Given the description of an element on the screen output the (x, y) to click on. 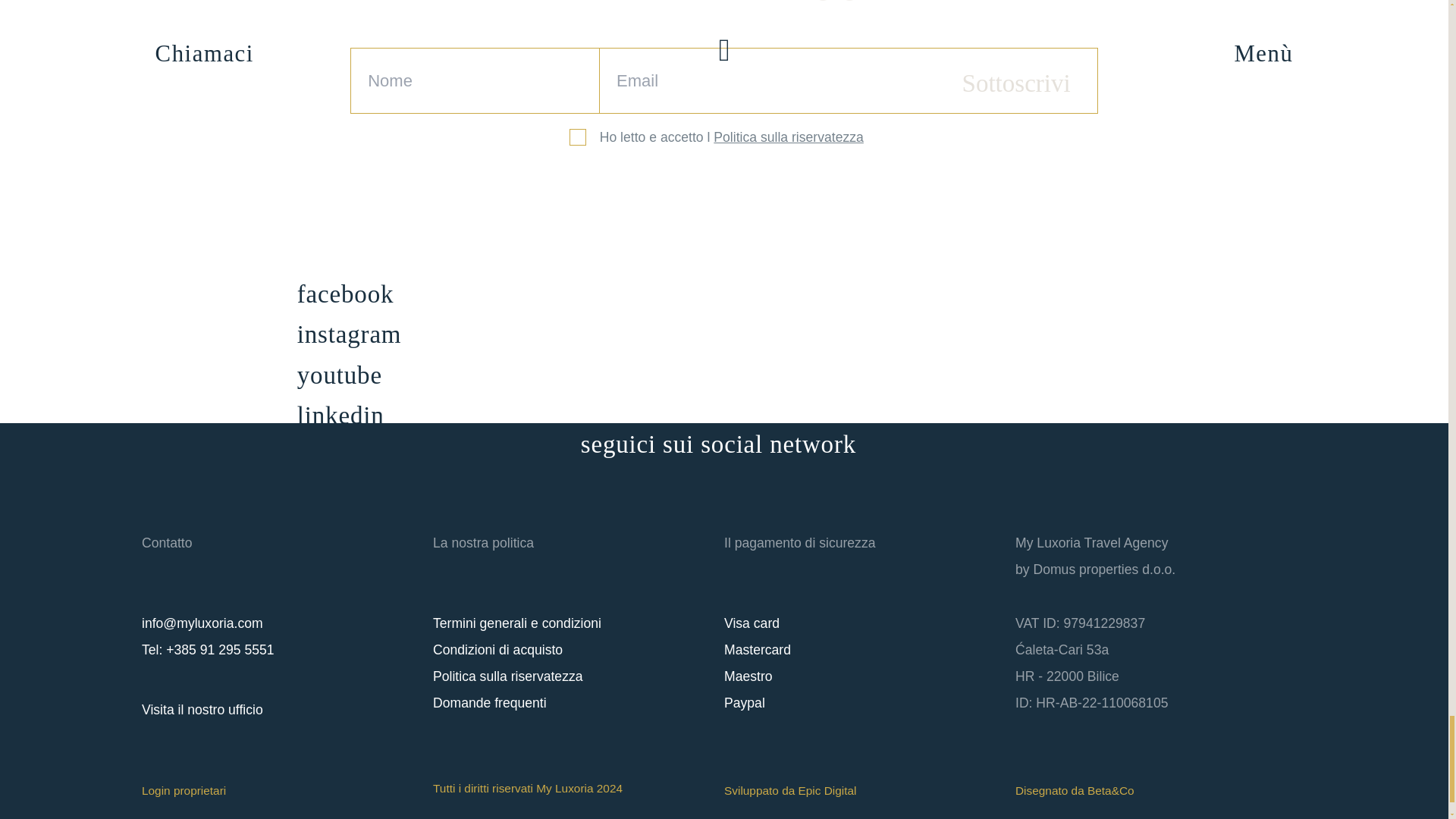
Condizioni di acquisto (497, 649)
Politica sulla riservatezza (507, 676)
Termini generali e condizioni (516, 622)
Domande frequenti (489, 702)
